Given the description of an element on the screen output the (x, y) to click on. 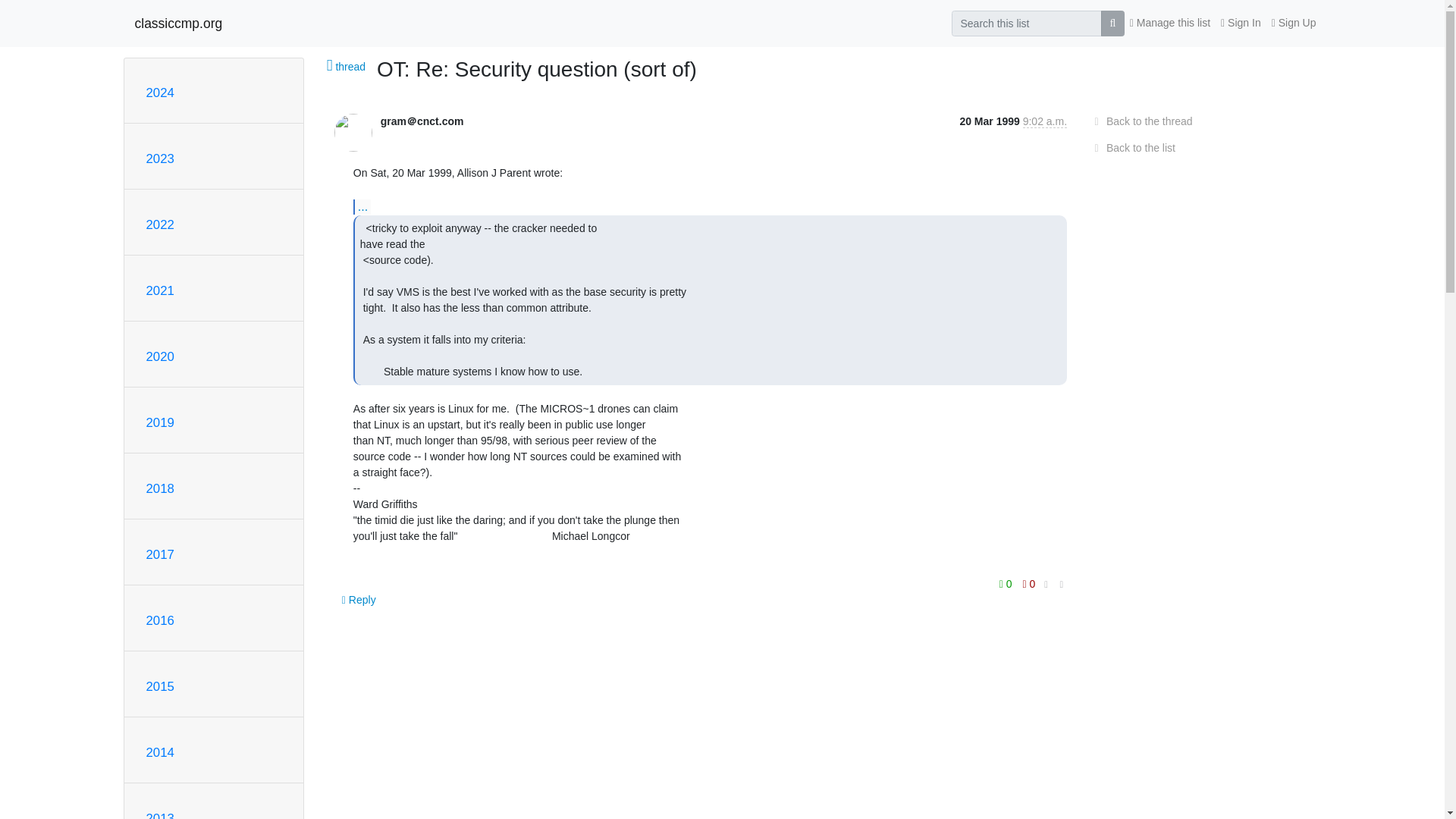
Sign in to reply online (359, 599)
classiccmp.org (178, 22)
Manage this list (1169, 22)
You must be logged-in to vote. (1029, 583)
2022 (159, 224)
2023 (159, 158)
You must be logged-in to vote. (1007, 583)
Sign In (1240, 22)
2024 (159, 92)
Sign Up (1294, 22)
